Given the description of an element on the screen output the (x, y) to click on. 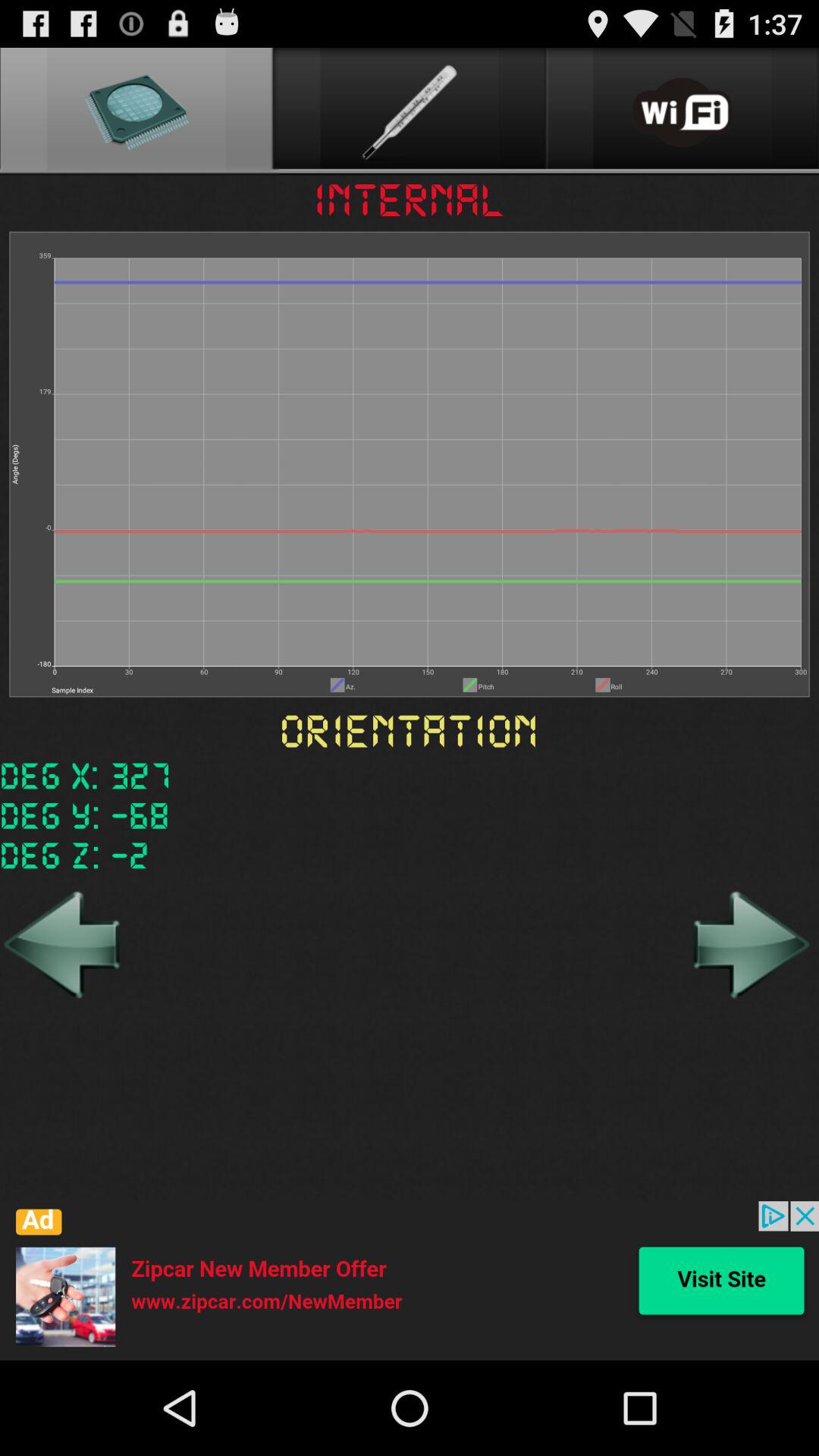
forward (749, 944)
